Given the description of an element on the screen output the (x, y) to click on. 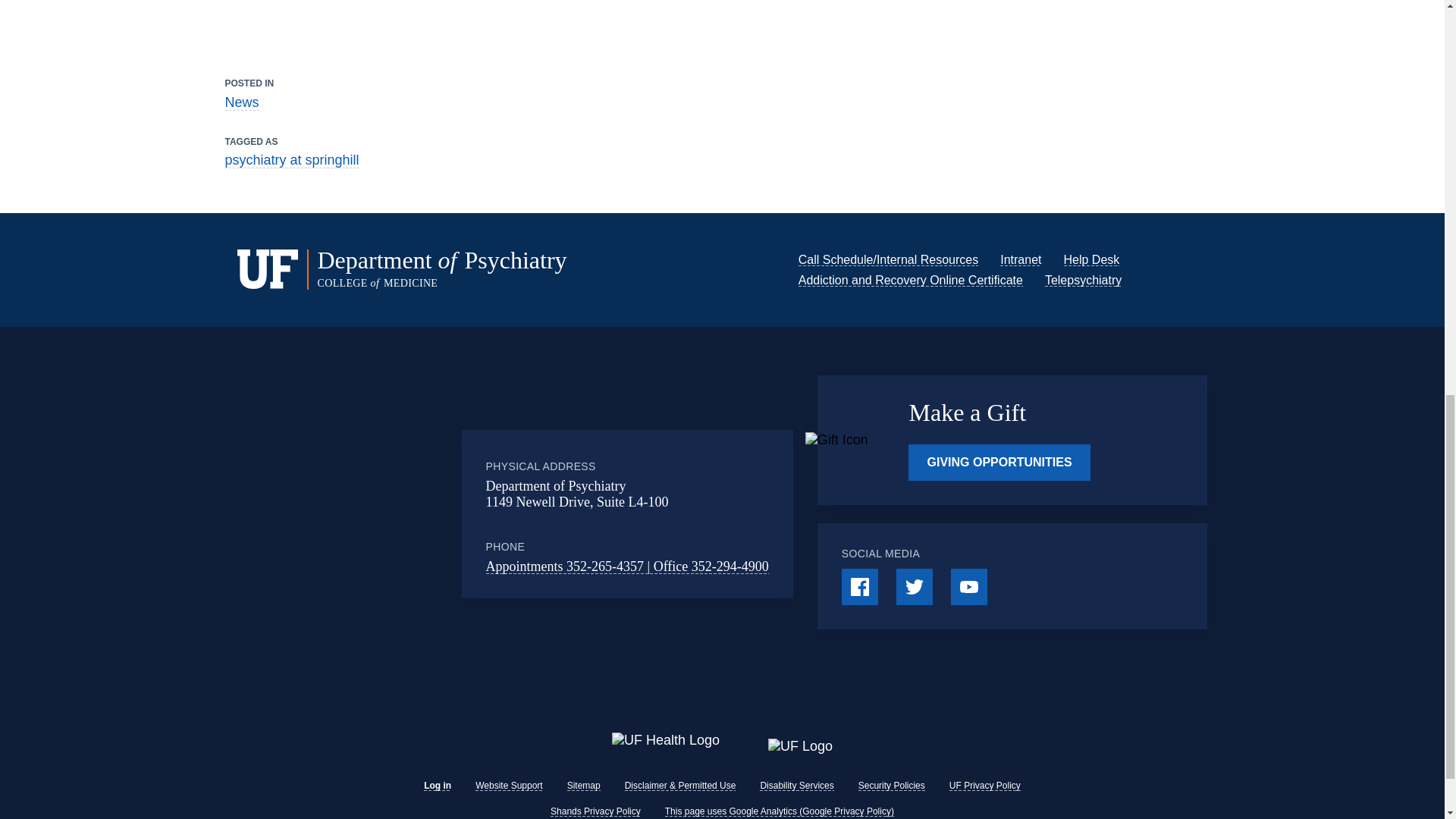
Intranet (1020, 259)
UF Privacy Policy (984, 785)
Security Policies (891, 785)
Google Maps Embed (396, 513)
Sitemap (583, 785)
Website Support (509, 785)
Telepsychiatry (1083, 279)
Help Desk (1090, 259)
Disability Services (796, 785)
Log in (437, 785)
